Given the description of an element on the screen output the (x, y) to click on. 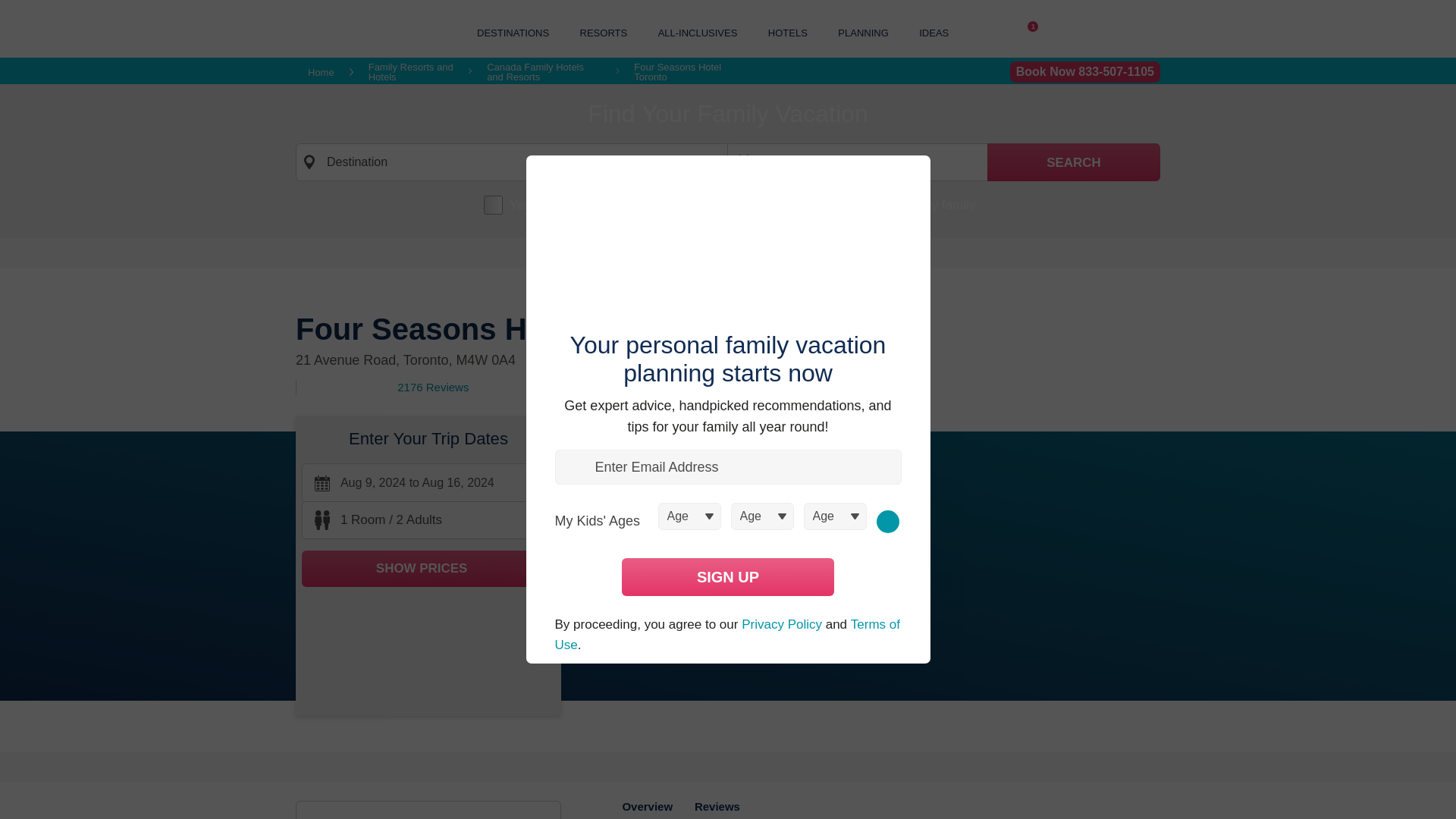
Aug 9, 2024 to Aug 16, 2024 (857, 161)
Book Now 833-507-1105 (1085, 71)
ALL-INCLUSIVES (698, 32)
2176 Reviews (432, 387)
IDEAS (933, 32)
Search (1073, 161)
Home (320, 71)
Search (1073, 161)
HOTELS (788, 32)
Sign Up (727, 576)
Search (1073, 161)
PLANNING (863, 32)
Canada Family Hotels and Resorts (542, 71)
Aug 9, 2024 to Aug 16, 2024 (1028, 32)
